Given the description of an element on the screen output the (x, y) to click on. 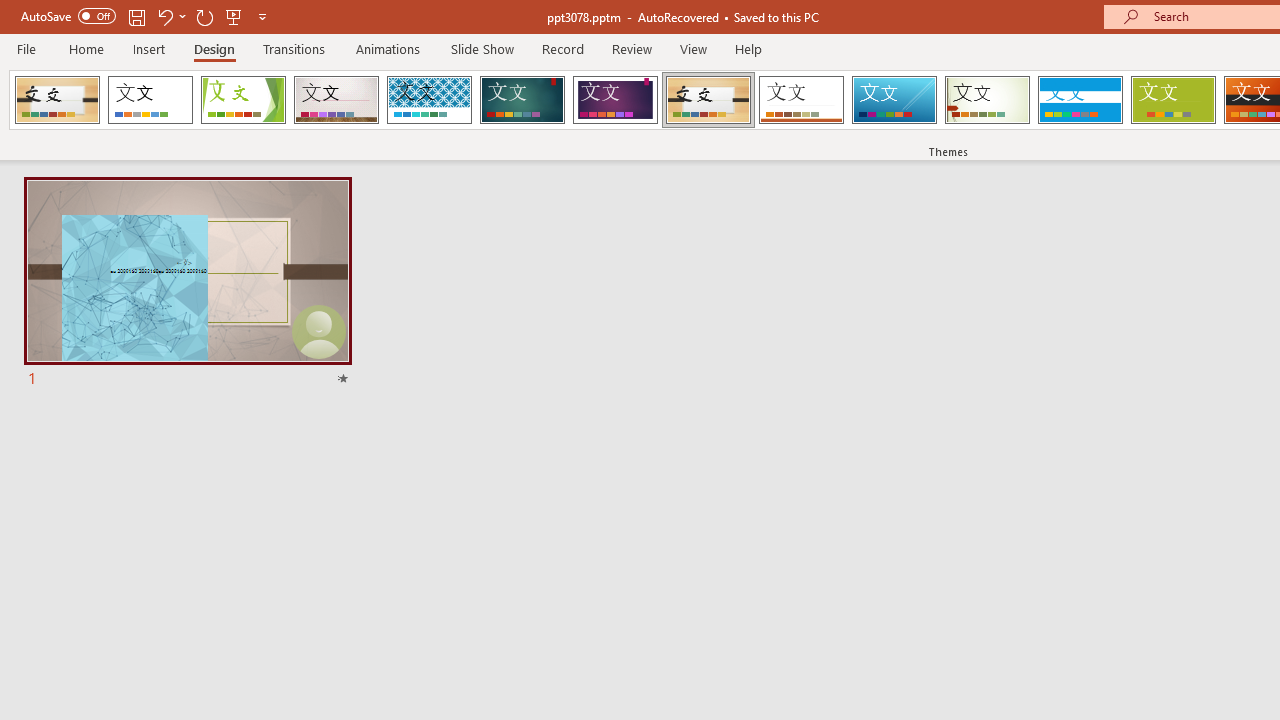
Ion Boardroom (615, 100)
Slice (893, 100)
Banded (1080, 100)
Facet (243, 100)
Organic (708, 100)
Integral (429, 100)
